Given the description of an element on the screen output the (x, y) to click on. 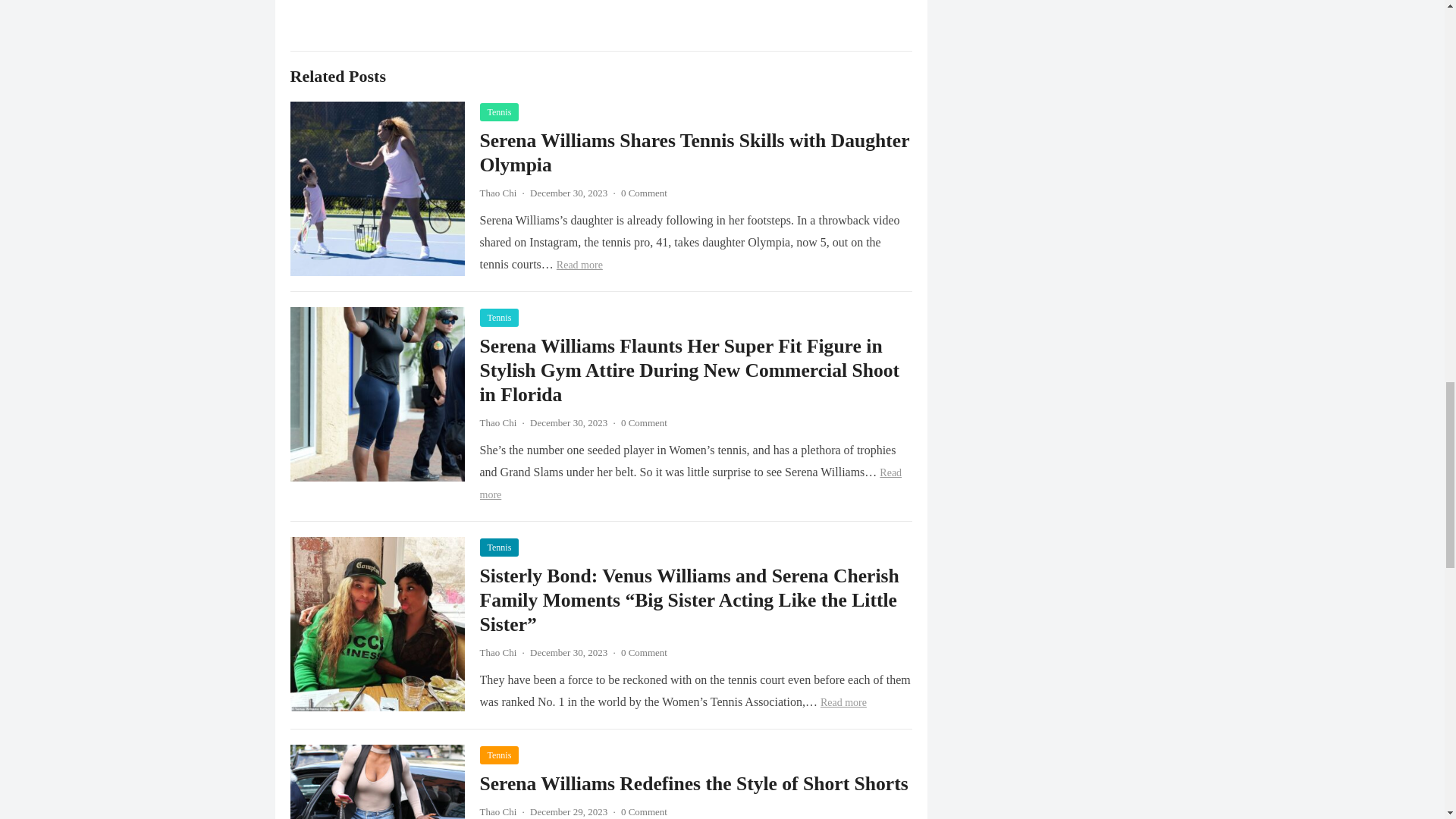
Tennis (498, 112)
Read more (579, 265)
Tennis (498, 317)
0 Comment (643, 193)
Posts by Thao Chi (497, 422)
Read more (690, 483)
Tennis (498, 547)
Serena Williams Shares Tennis Skills with Daughter Olympia (693, 152)
Thao Chi (497, 422)
0 Comment (643, 422)
Posts by Thao Chi (497, 193)
Thao Chi (497, 193)
Posts by Thao Chi (497, 652)
Posts by Thao Chi (497, 811)
